Given the description of an element on the screen output the (x, y) to click on. 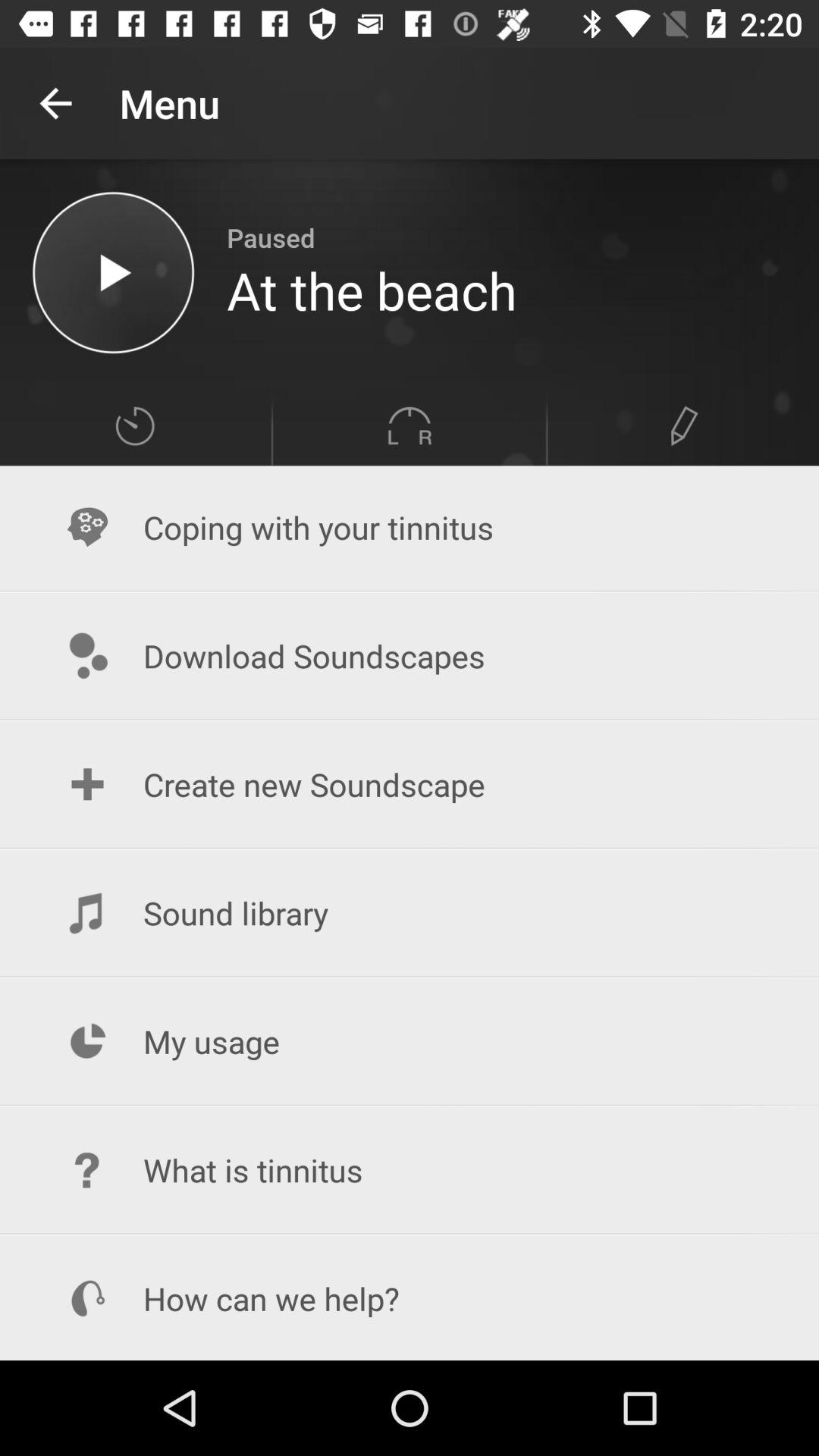
tap the how can we item (409, 1298)
